Given the description of an element on the screen output the (x, y) to click on. 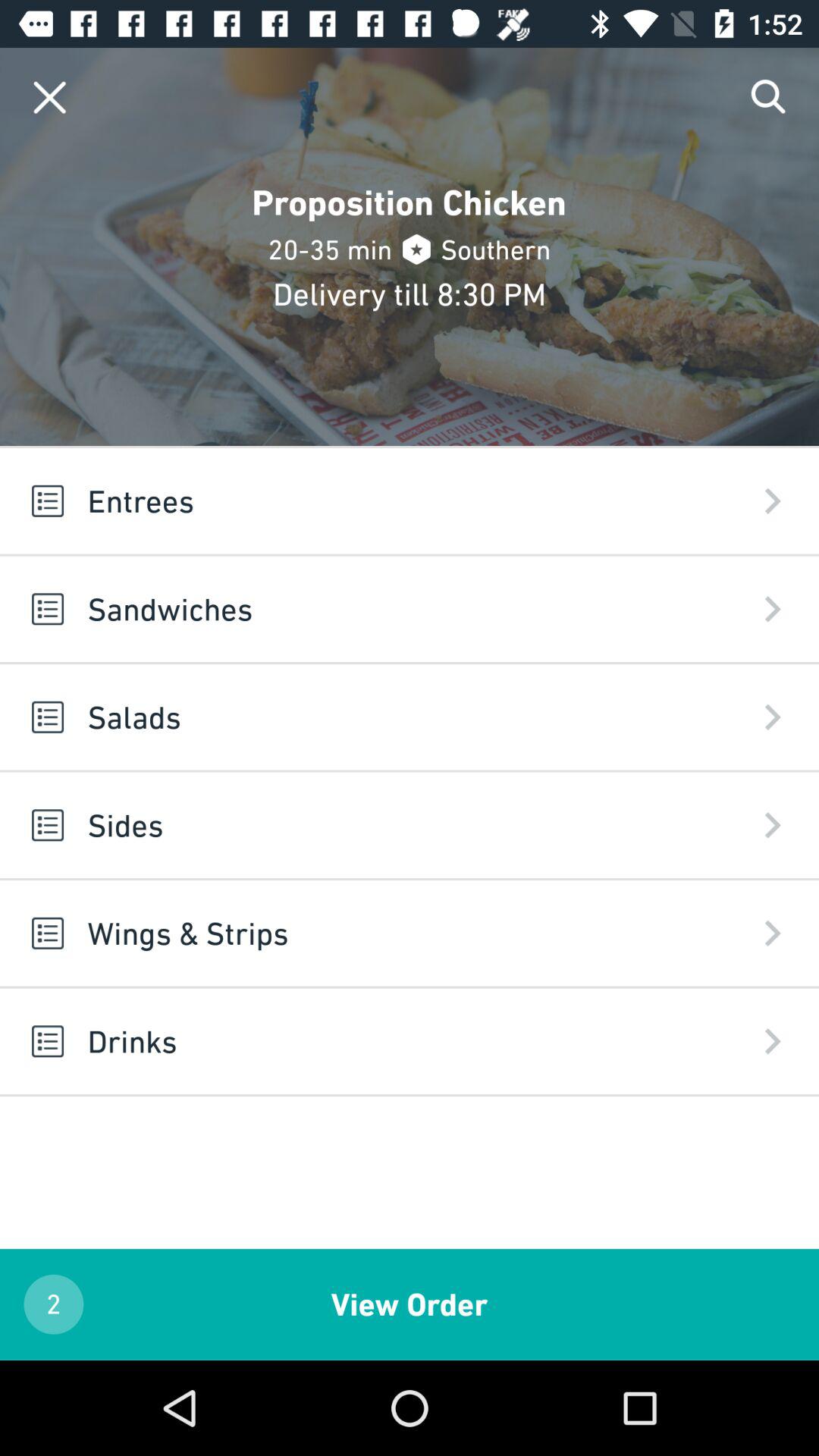
close menu (49, 97)
